Given the description of an element on the screen output the (x, y) to click on. 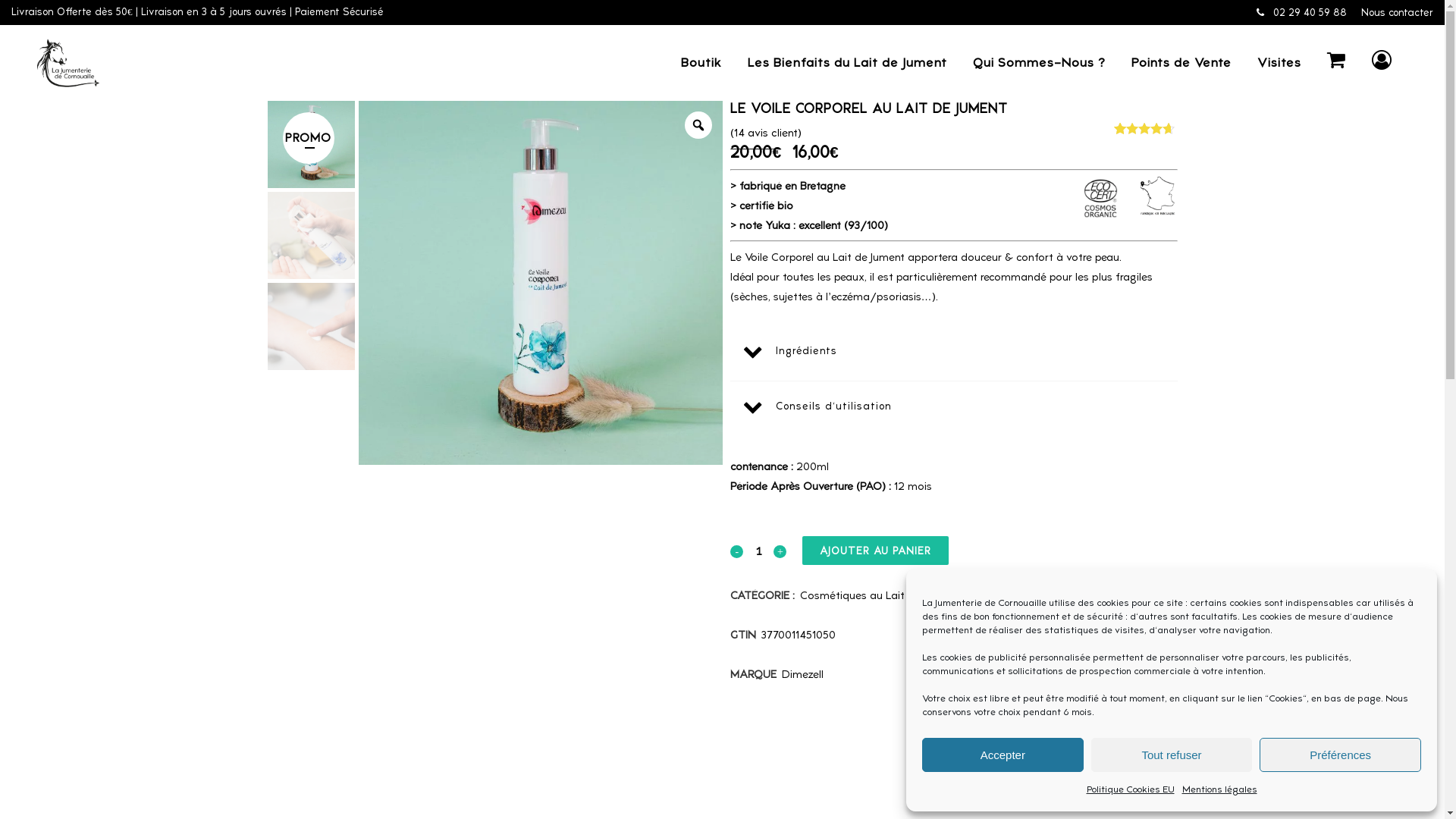
AJOUTER AU PANIER Element type: text (875, 550)
02 29 40 59 88 Element type: text (1301, 12)
Accepter Element type: text (1002, 754)
Tout refuser Element type: text (1171, 754)
Lait Corps Lait de Jument 1 Element type: hover (310, 144)
Nous contacter Element type: text (1397, 12)
Lait Corps Lait de Jument 3 Element type: hover (310, 326)
Points de Vente Element type: text (1181, 62)
Visites Element type: text (1279, 62)
Lait Corps Lait de Jument 1 Element type: hover (539, 282)
Lait Corps Lait de Jument 2 Element type: hover (310, 235)
Les Bienfaits du Lait de Jument Element type: text (847, 62)
Qui Sommes-Nous ? Element type: text (1039, 62)
Politique Cookies EU Element type: text (1129, 789)
Boutik Element type: text (701, 62)
(14 avis client) Element type: text (765, 132)
